Given the description of an element on the screen output the (x, y) to click on. 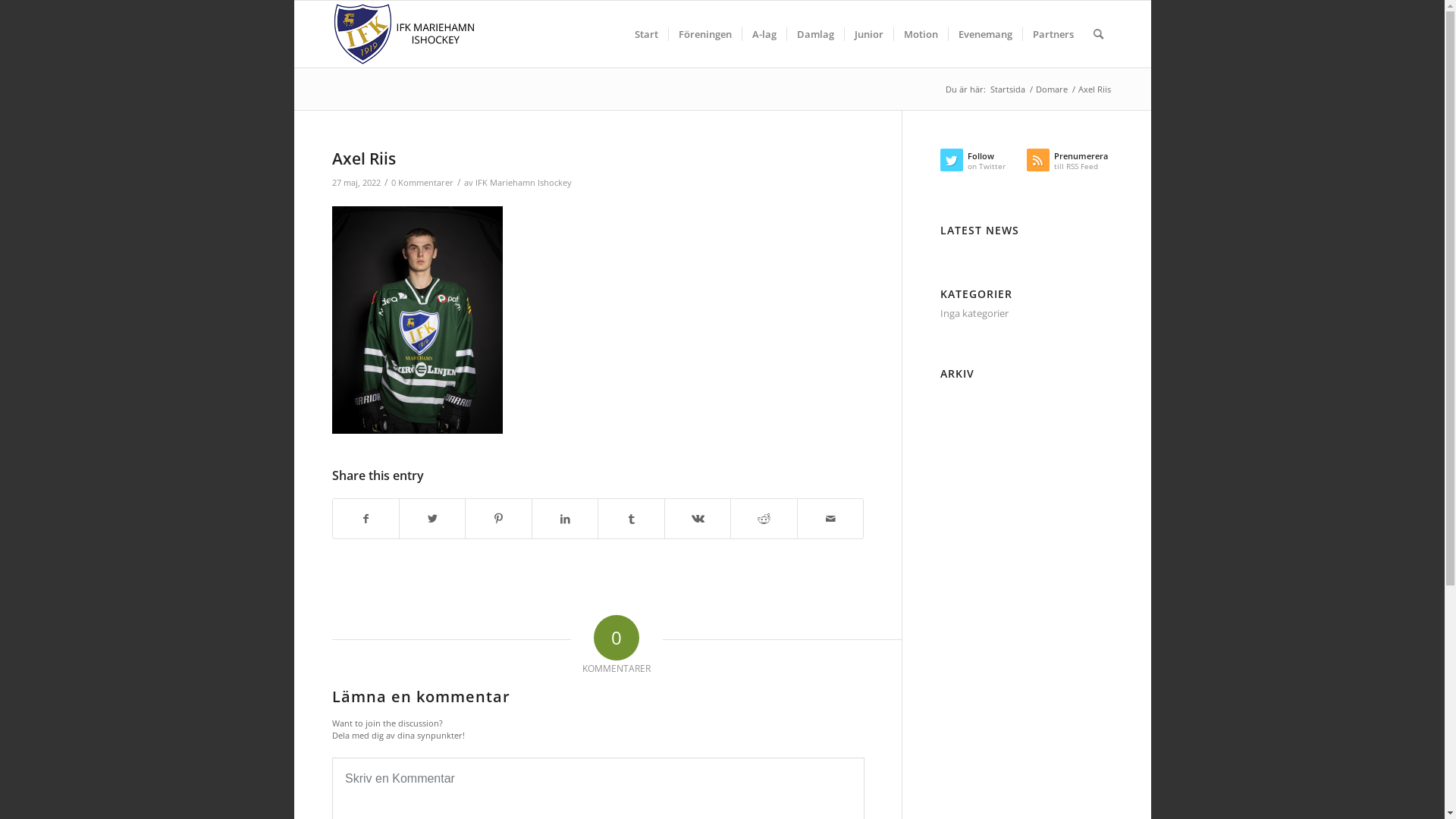
0 Kommentarer Element type: text (422, 182)
mifk Element type: hover (404, 33)
Domare Element type: text (1050, 88)
Junior Element type: text (867, 33)
Follow
on Twitter Element type: text (983, 163)
IFK Mariehamn Ishockey Element type: text (522, 182)
Evenemang Element type: text (984, 33)
Start Element type: text (646, 33)
Damlag Element type: text (814, 33)
Partners Element type: text (1052, 33)
A-lag Element type: text (763, 33)
Startsida Element type: text (1006, 88)
Motion Element type: text (920, 33)
Prenumerera
till RSS Feed Element type: text (1069, 163)
